Given the description of an element on the screen output the (x, y) to click on. 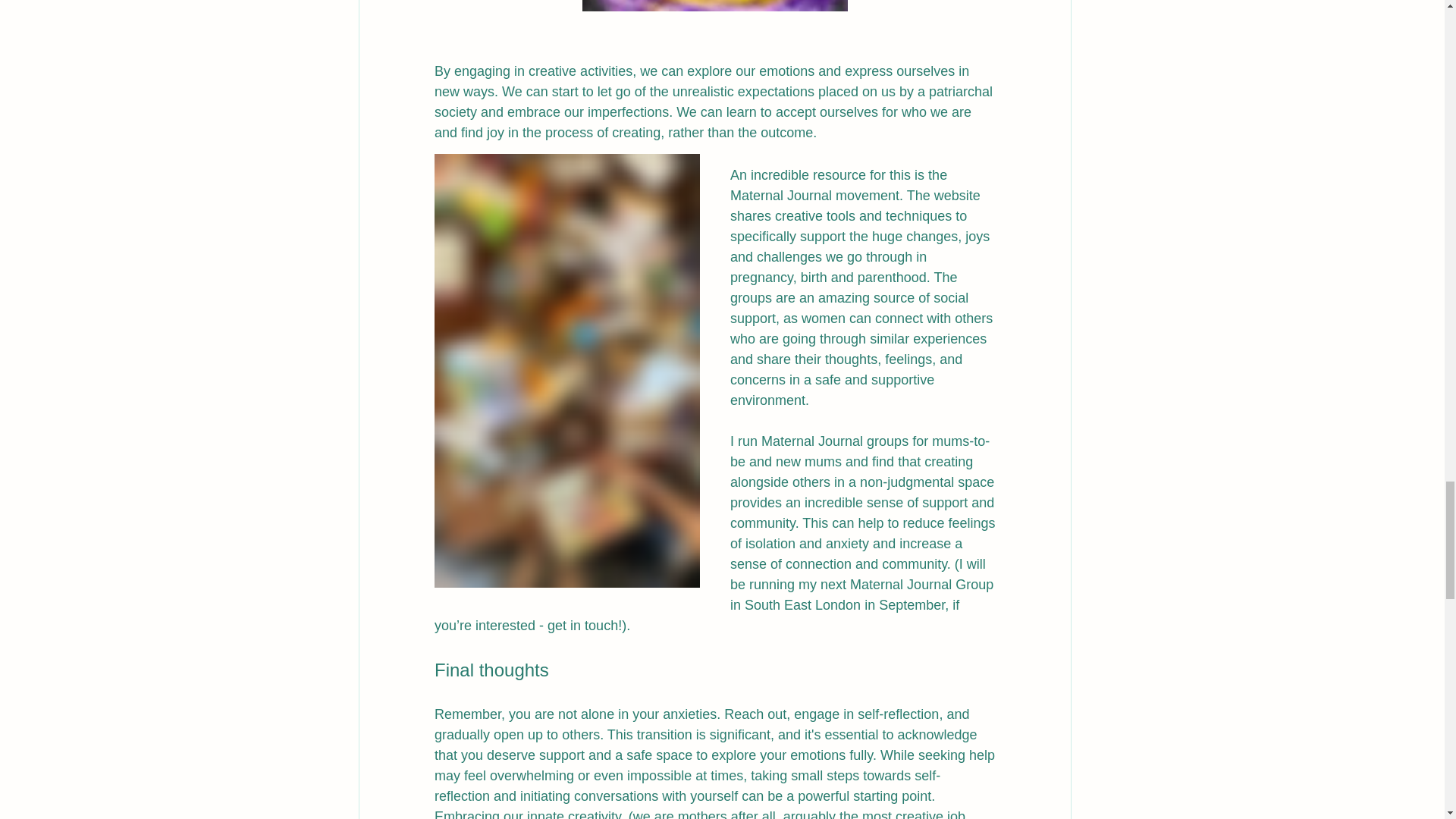
Maternal Journal  (781, 195)
